Given the description of an element on the screen output the (x, y) to click on. 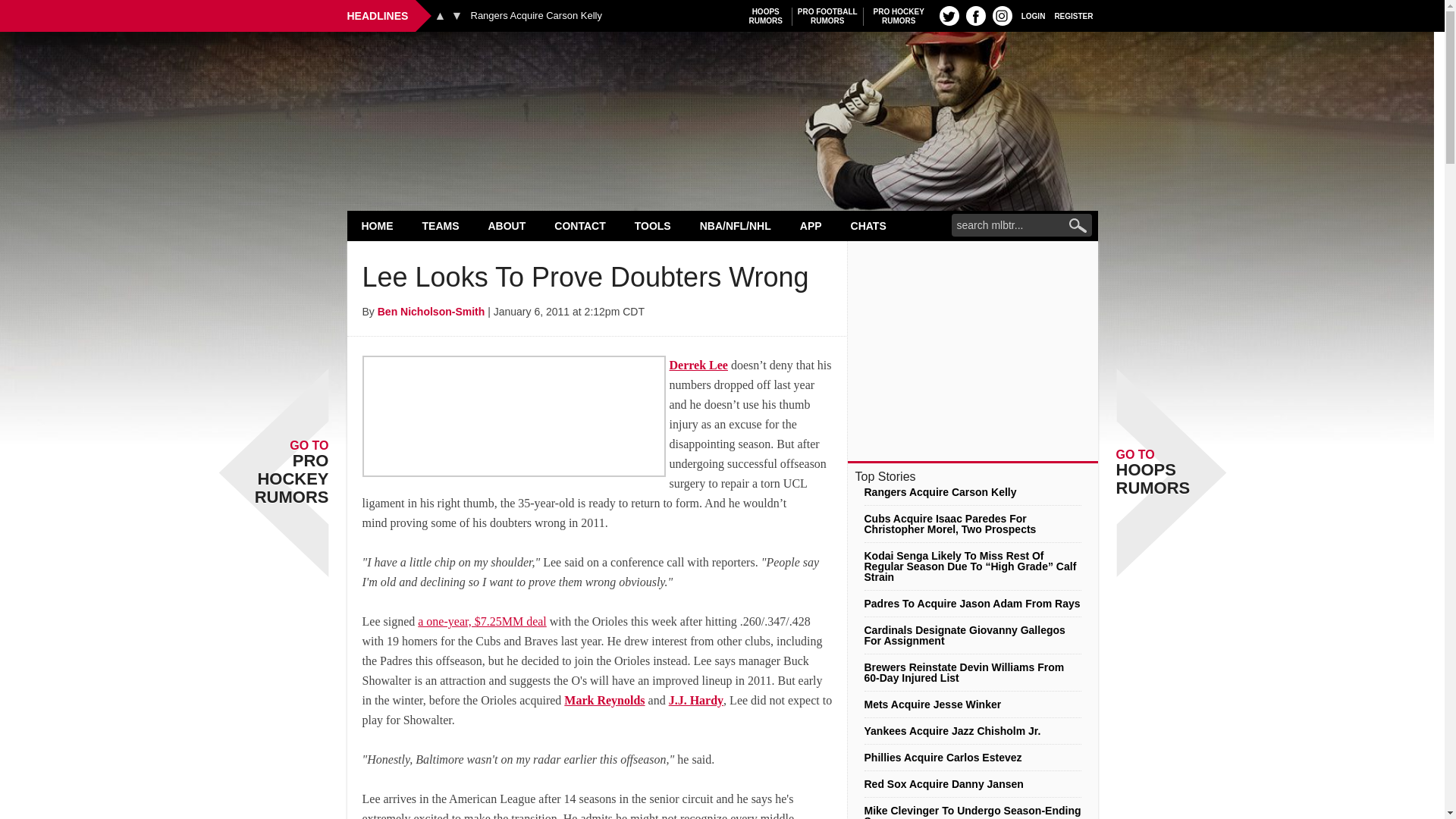
Previous (439, 15)
FB profile (975, 15)
TEAMS (440, 225)
Next (456, 15)
Instagram profile (1001, 15)
MLB Trade Rumors (722, 69)
Twitter profile (827, 16)
Rangers Acquire Carson Kelly (949, 15)
LOGIN (535, 15)
REGISTER (1032, 15)
HOME (1073, 15)
Derrek Lee (377, 225)
